Given the description of an element on the screen output the (x, y) to click on. 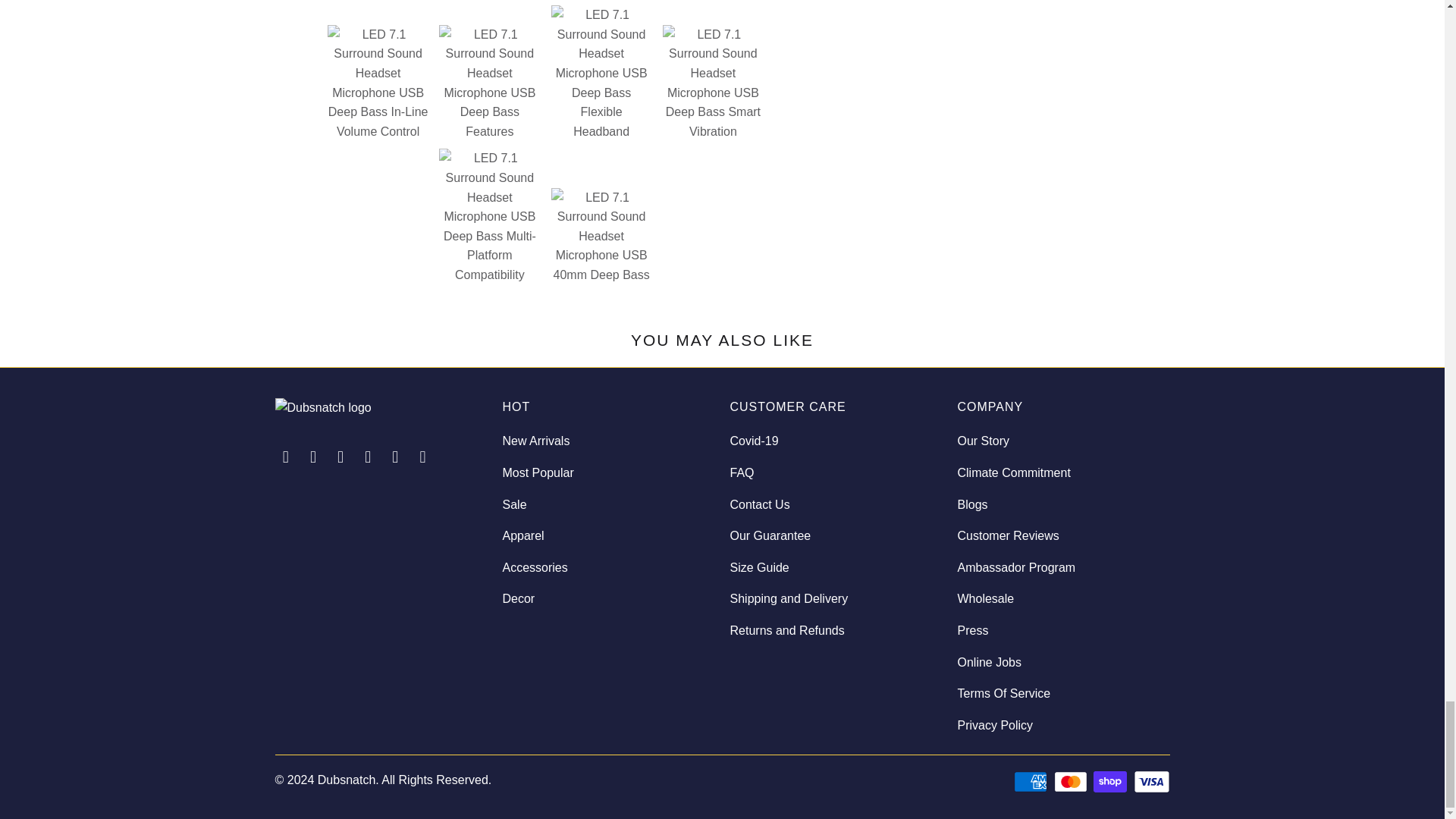
Mastercard (1072, 781)
Shop Pay (1111, 781)
American Express (1031, 781)
Visa (1150, 781)
